Given the description of an element on the screen output the (x, y) to click on. 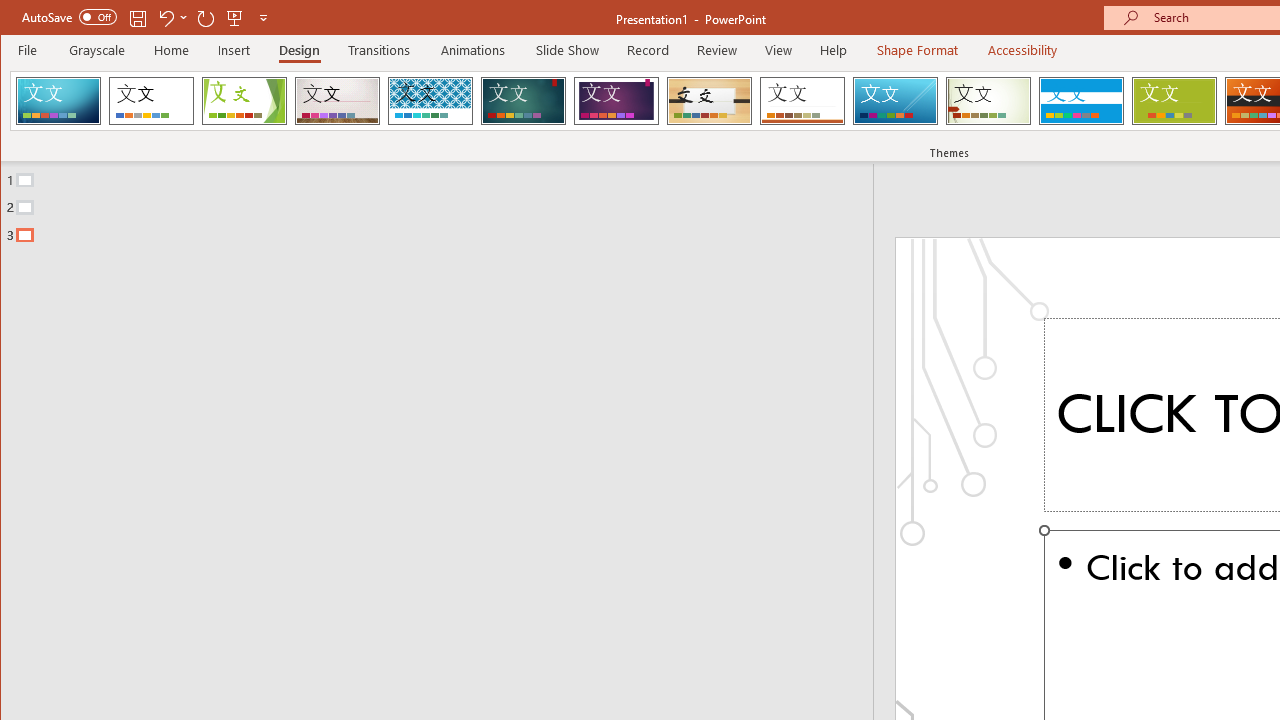
Facet (244, 100)
Ion (523, 100)
Wisp (988, 100)
